Given the description of an element on the screen output the (x, y) to click on. 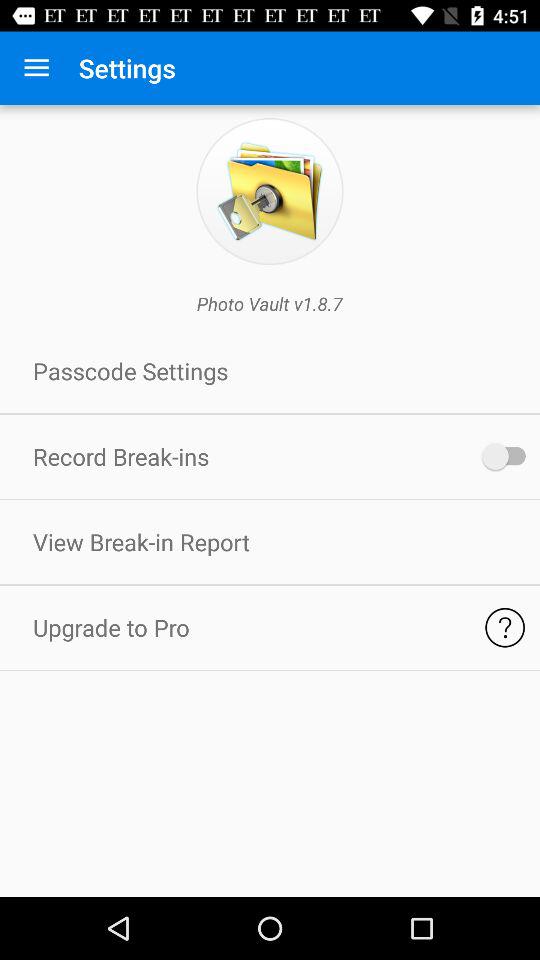
learn about pro (504, 627)
